Given the description of an element on the screen output the (x, y) to click on. 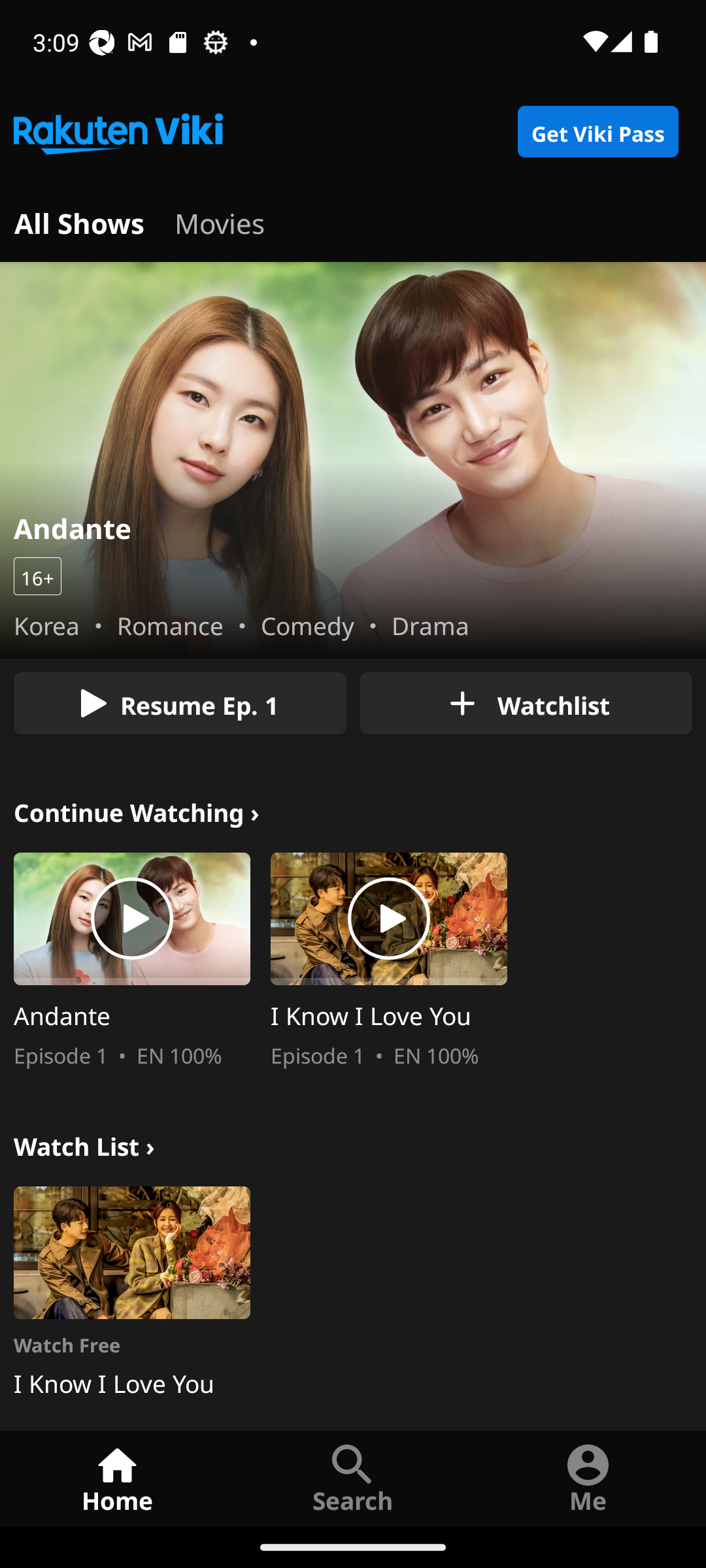
Get Viki Pass (597, 131)
home_tab_movies Movies (219, 220)
Resume Ep. 1 home_billboard_play_button (179, 702)
Watchlist home_billboard_add_to_watchlist_button (526, 702)
Continue Watching › continue_watching (136, 809)
Watch List › watch_list (84, 1143)
Search (352, 1478)
Me (588, 1478)
